Given the description of an element on the screen output the (x, y) to click on. 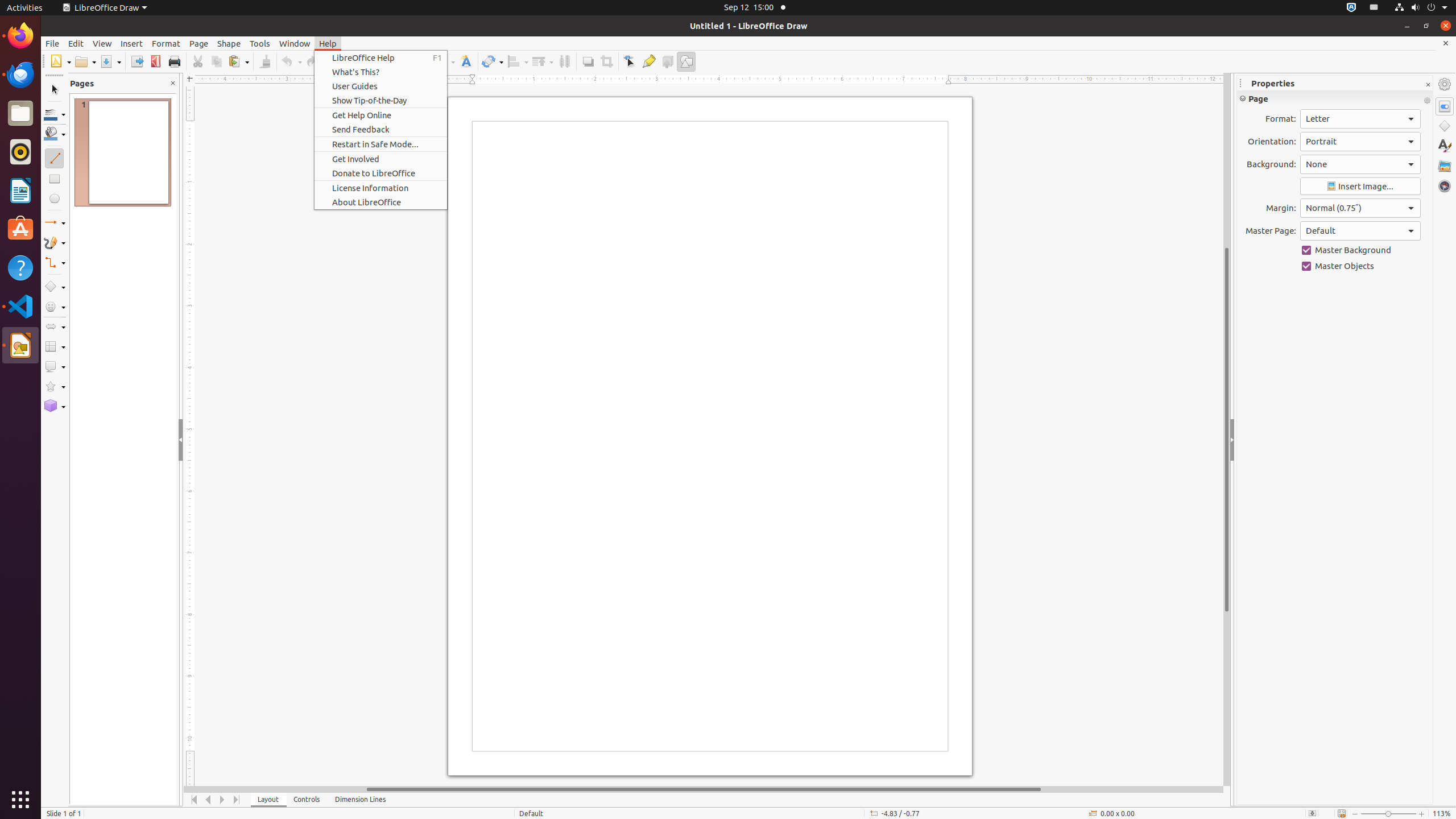
:1.21/StatusNotifierItem Element type: menu (1373, 7)
Line Color Element type: push-button (54, 113)
